Given the description of an element on the screen output the (x, y) to click on. 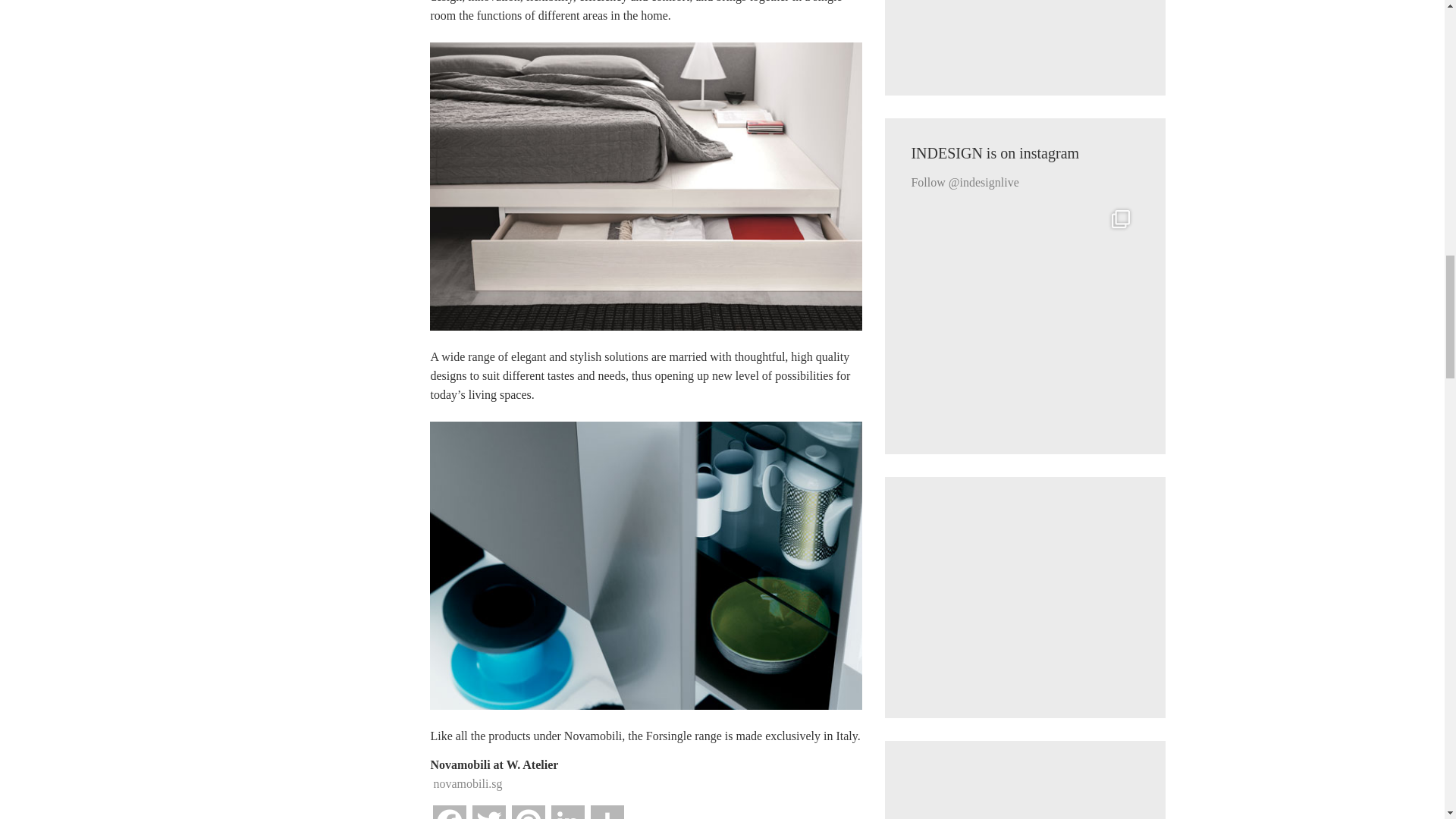
Twitter (488, 812)
LinkedIn (568, 812)
Pinterest (528, 812)
3rd party ad content (1024, 34)
Facebook (448, 812)
